Given the description of an element on the screen output the (x, y) to click on. 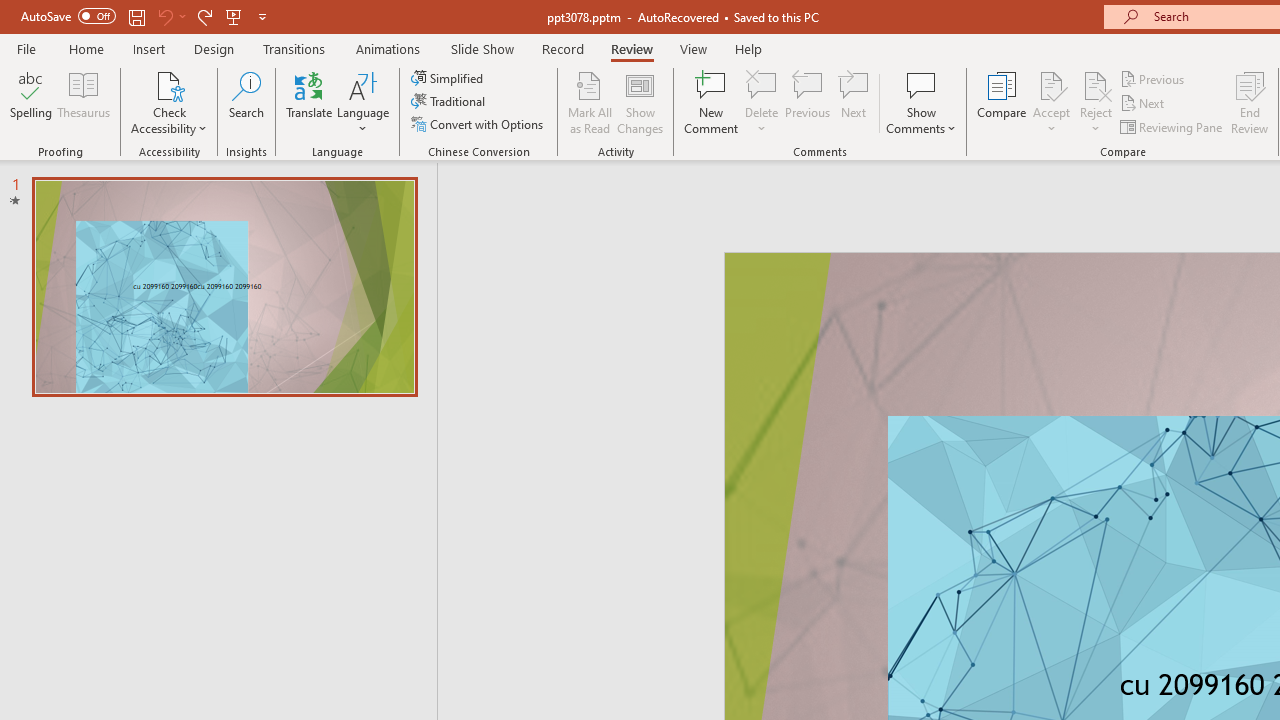
New Comment (711, 102)
Thesaurus... (83, 102)
Language (363, 102)
Previous (1153, 78)
Show Changes (639, 102)
